Given the description of an element on the screen output the (x, y) to click on. 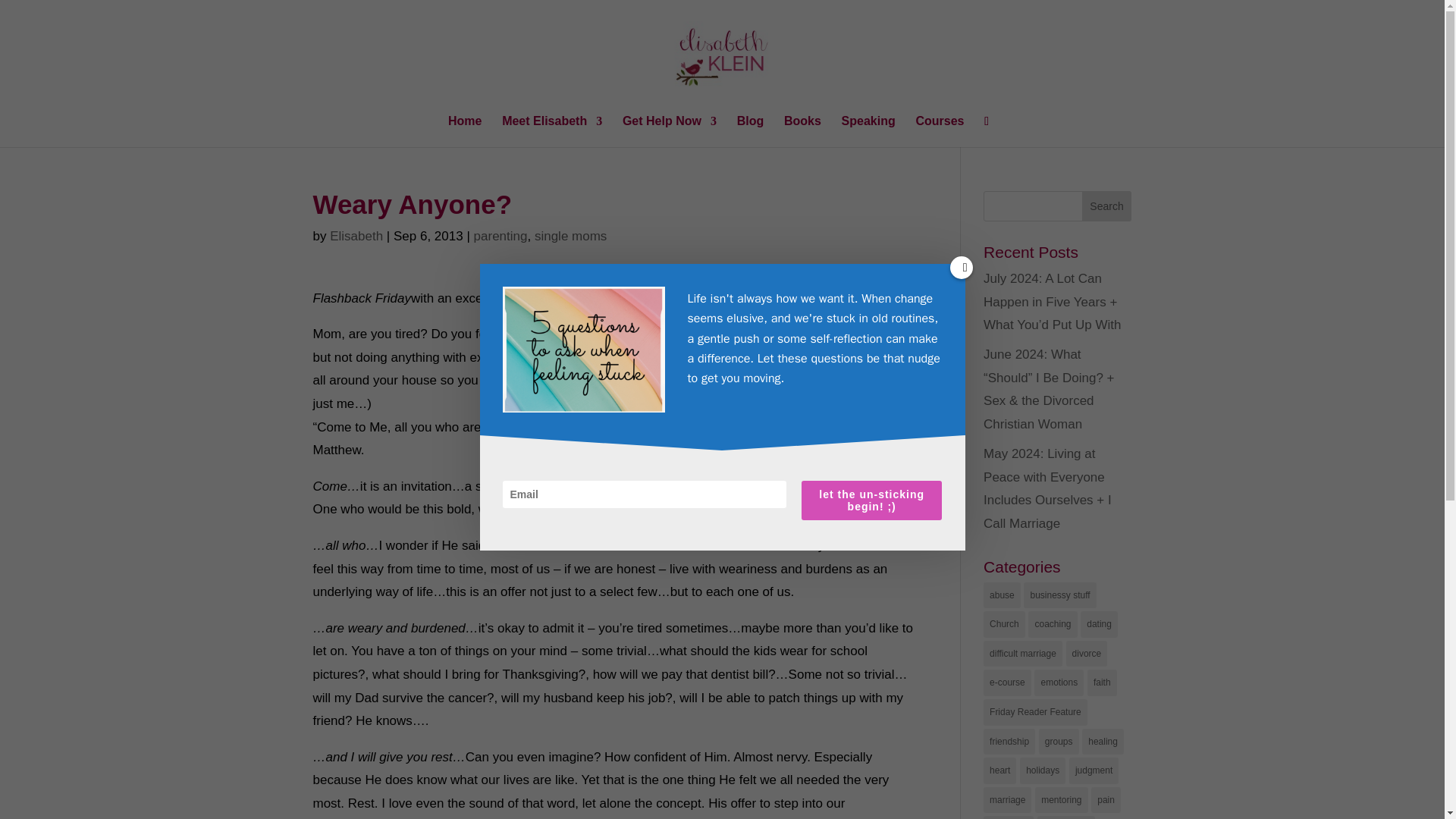
Elisabeth (356, 236)
Speaking (868, 131)
Blog (750, 131)
coaching (1052, 624)
dating (1099, 624)
single moms (570, 236)
Home (464, 131)
abuse (1002, 595)
businessy stuff (1059, 595)
emotions (1058, 682)
Search (1106, 205)
In Search of Calm (683, 298)
faith (1101, 682)
divorce (1086, 653)
difficult marriage (1023, 653)
